Given the description of an element on the screen output the (x, y) to click on. 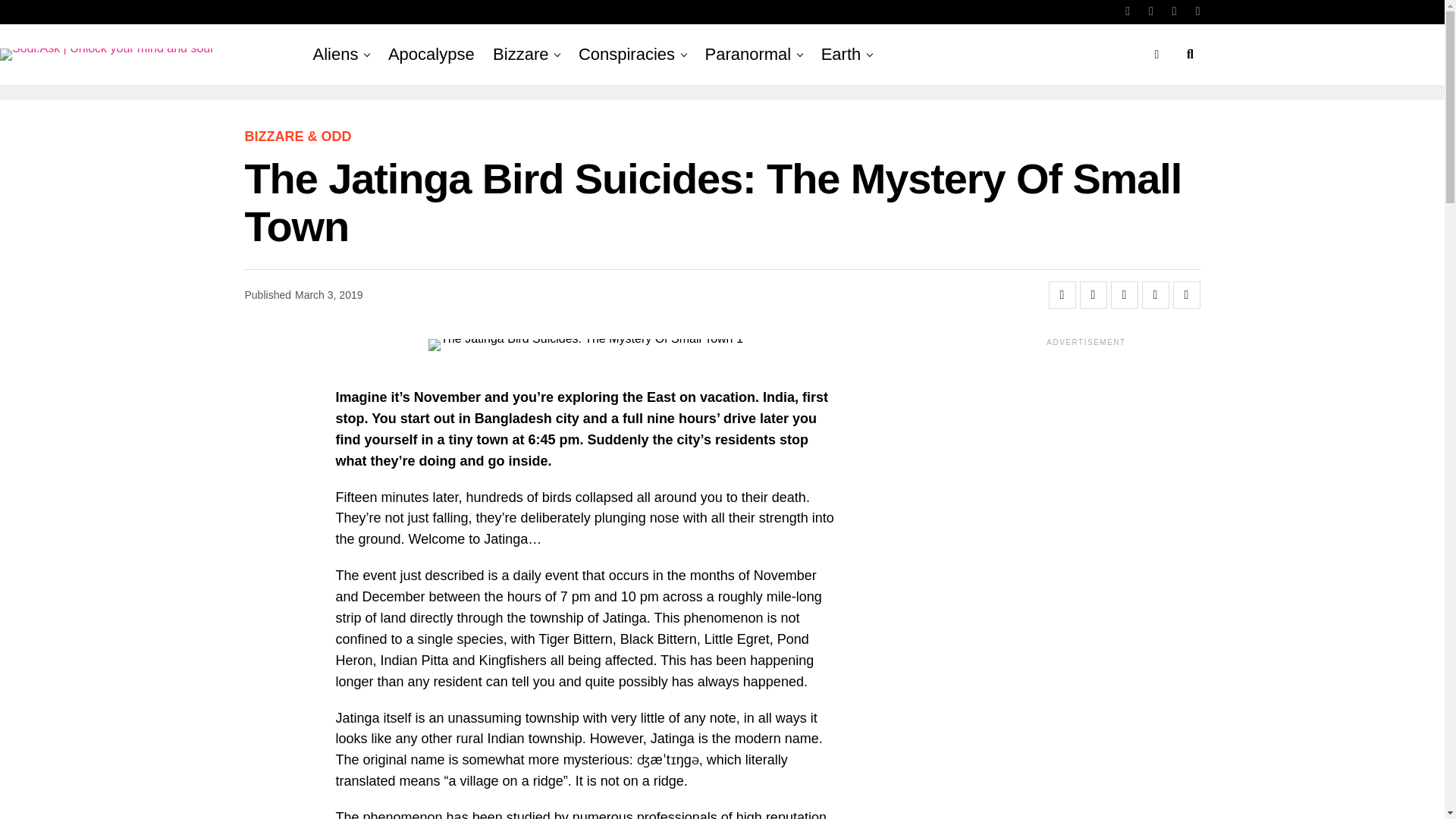
Share on Facebook (1061, 294)
The Jatinga Bird Suicides: The Mystery Of Small Town 1 (585, 345)
Tweet This Post (1093, 294)
